Given the description of an element on the screen output the (x, y) to click on. 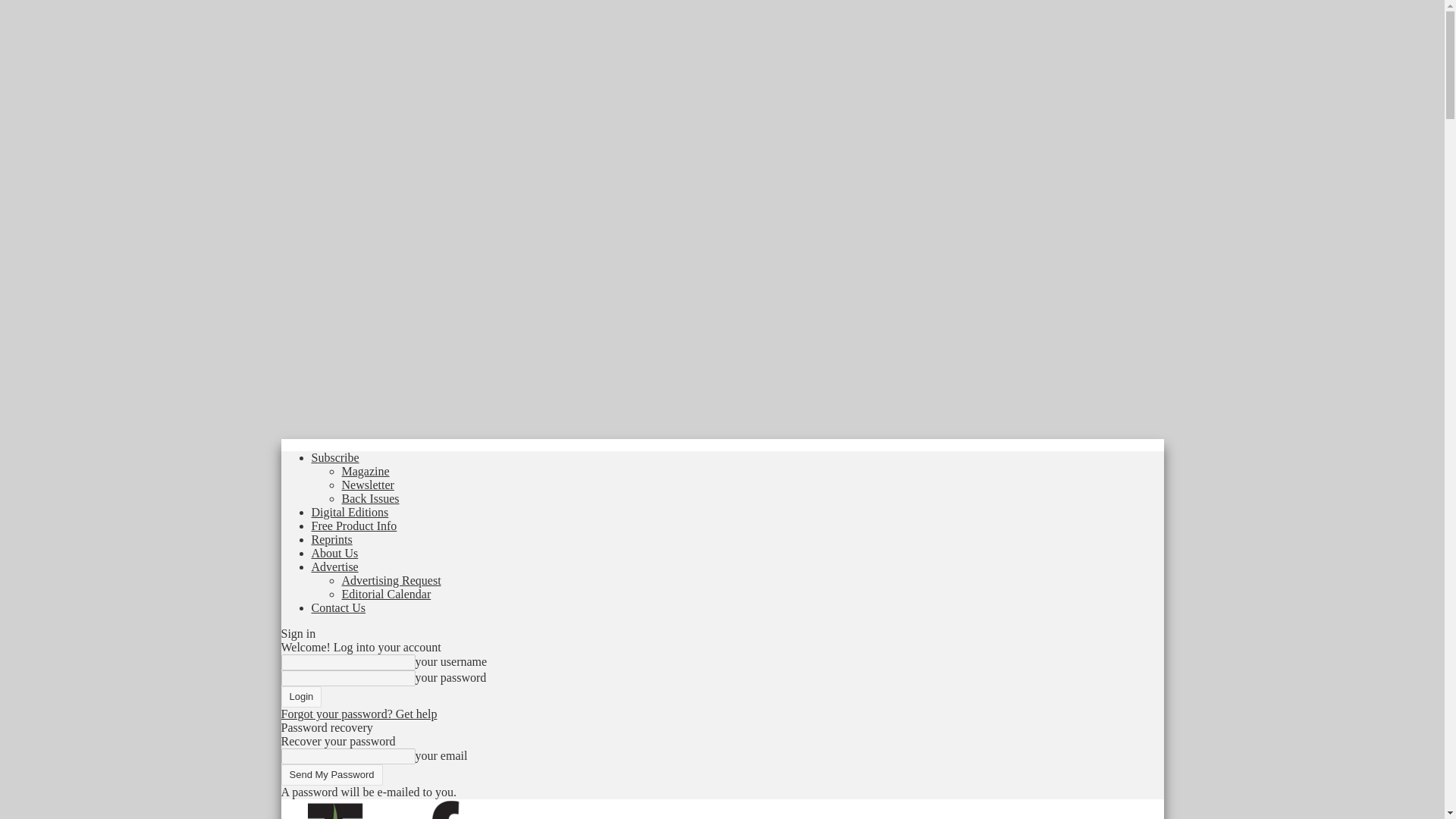
Magazine (364, 471)
Login (301, 696)
Turf Magazine (383, 809)
Digital Editions (349, 512)
Back Issues (369, 498)
Send My Password (331, 774)
Newsletter (366, 484)
Subscribe (334, 457)
Free Product Info (353, 525)
